Given the description of an element on the screen output the (x, y) to click on. 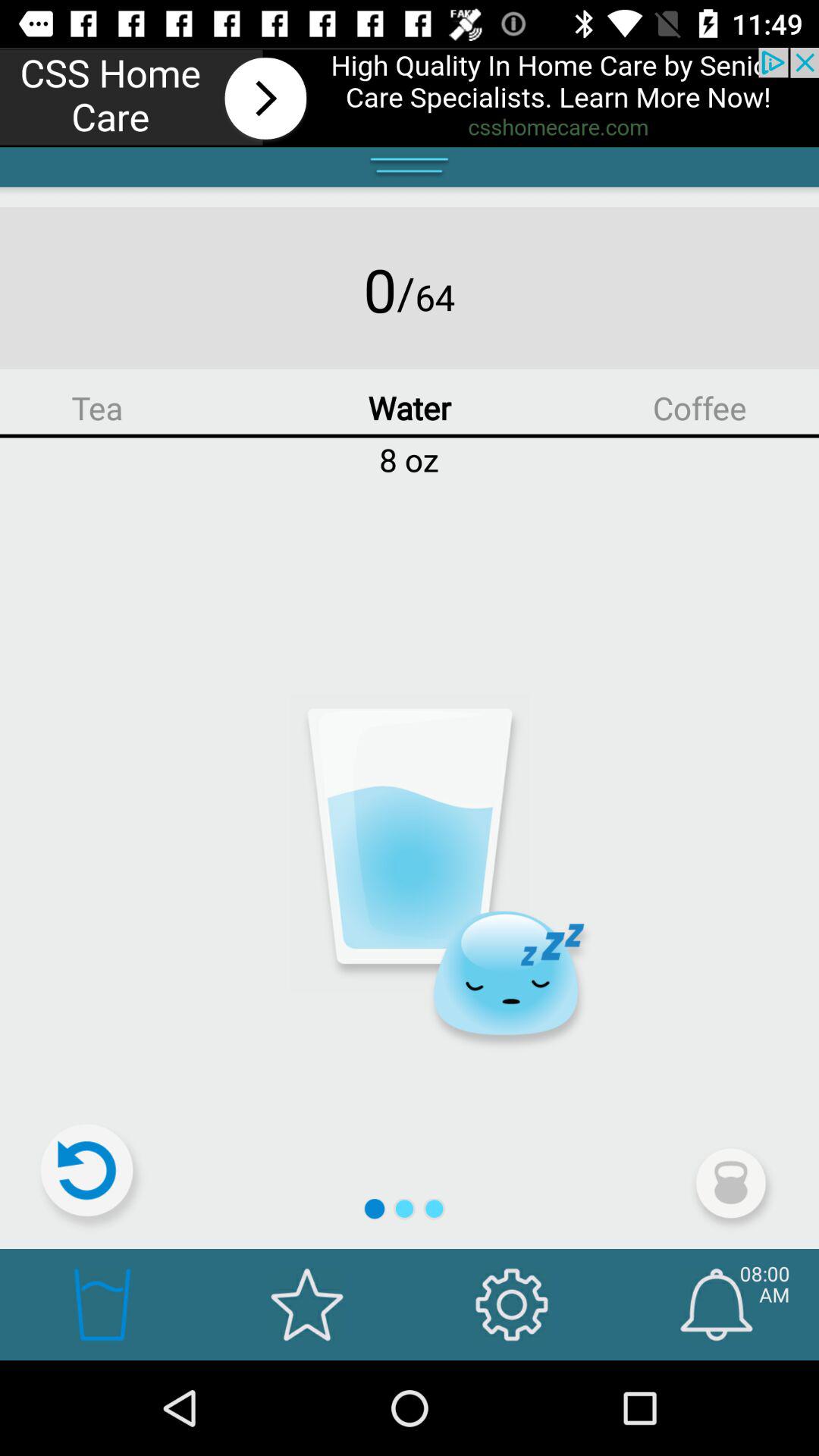
select advertisement (409, 97)
